Given the description of an element on the screen output the (x, y) to click on. 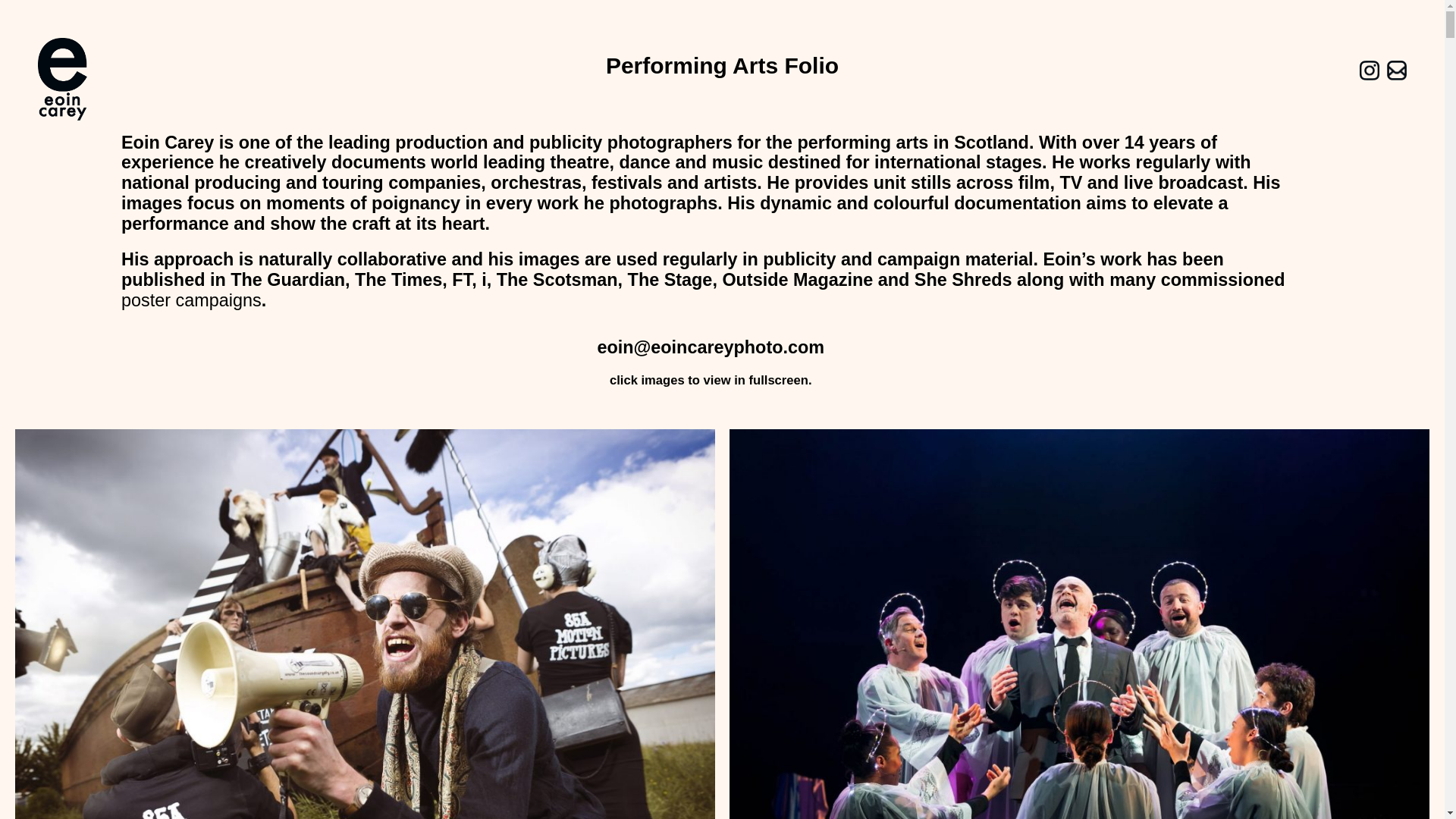
poster campaigns (191, 300)
